Given the description of an element on the screen output the (x, y) to click on. 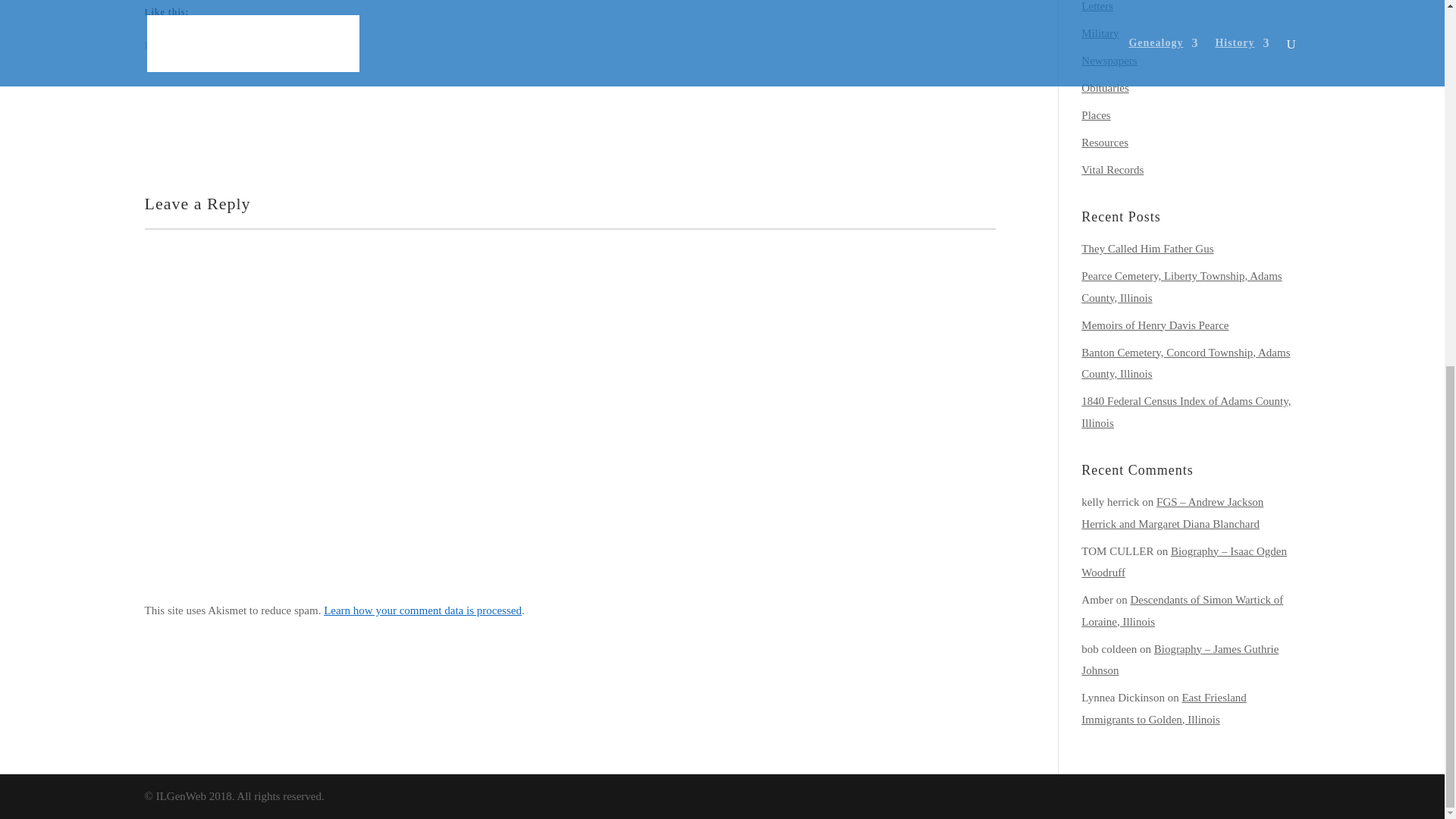
Learn how your comment data is processed (422, 610)
Like or Reblog (569, 96)
